Given the description of an element on the screen output the (x, y) to click on. 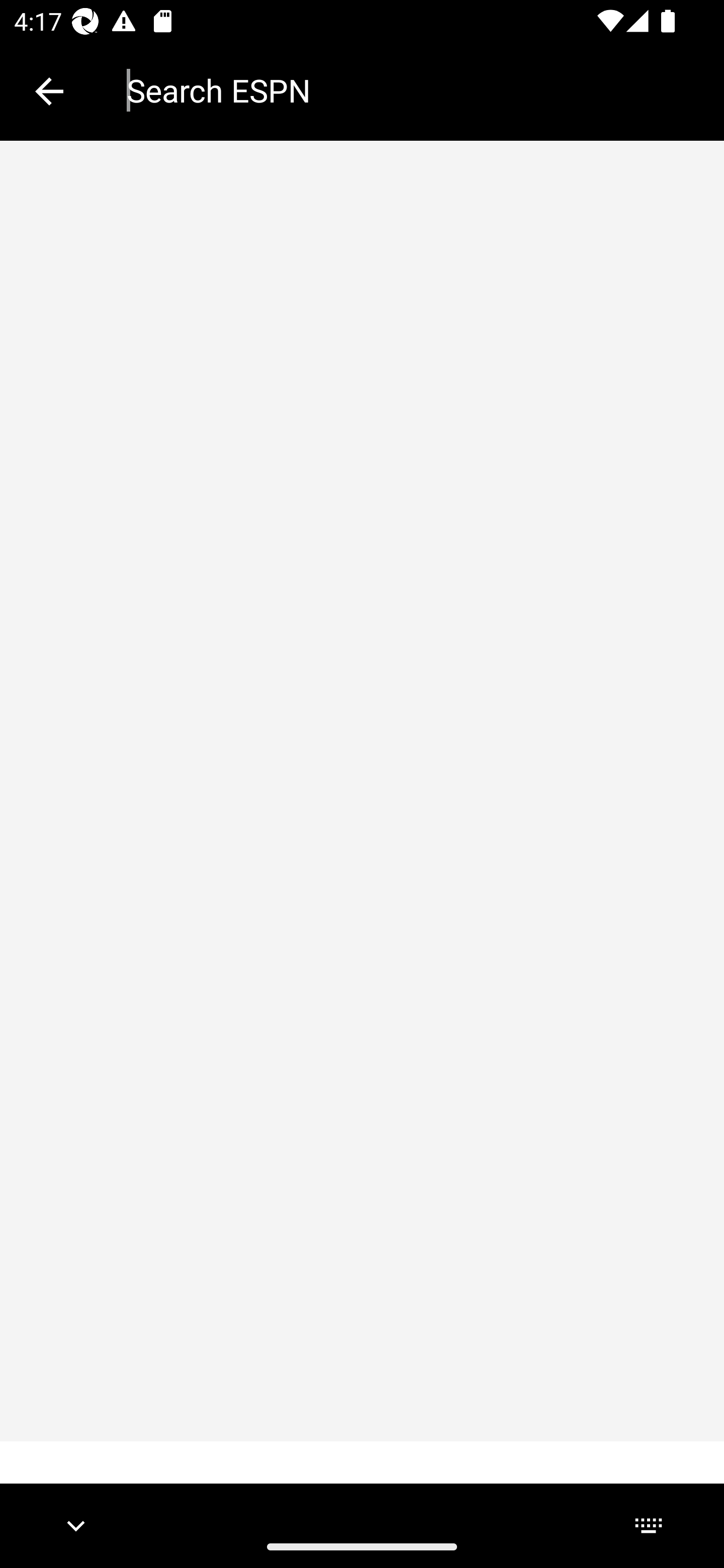
Collapse (49, 91)
Search ESPN (411, 90)
